Given the description of an element on the screen output the (x, y) to click on. 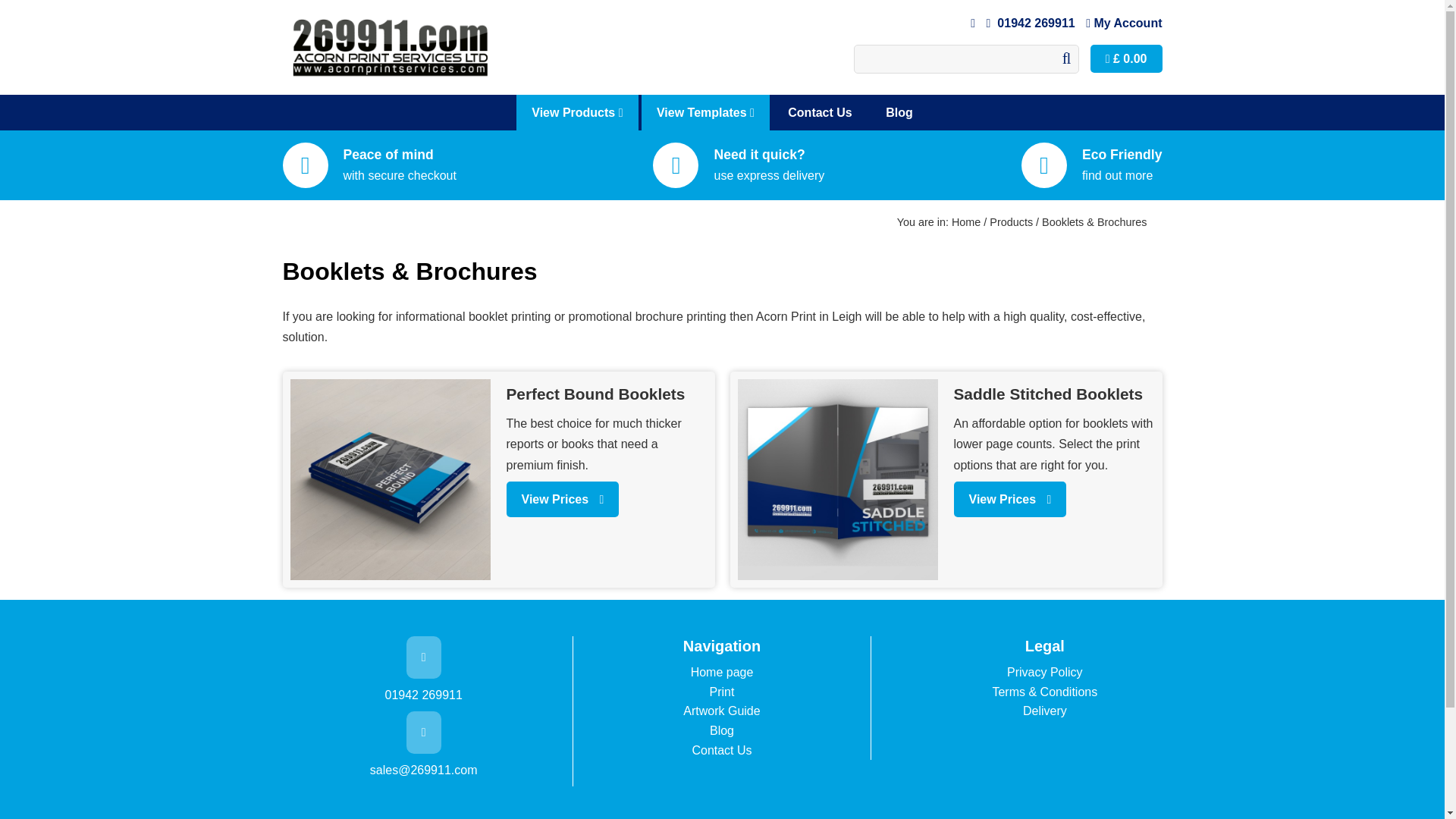
Email Us Element type: hover (974, 22)
Privacy Policy Element type: text (1044, 671)
Blog Element type: text (899, 112)
Delivery Element type: text (1044, 710)
View Products Element type: text (576, 112)
Perfect Bound Booklets Element type: hover (389, 479)
View Prices Element type: text (562, 499)
Products Element type: text (1010, 222)
Terms & Conditions Element type: text (1044, 691)
Search Element type: hover (965, 58)
Artwork Guide Element type: text (721, 710)
Perfect Bound Booklets Element type: text (606, 393)
View Prices Element type: text (1009, 499)
sales@269911.com Element type: text (423, 752)
View Templates Element type: text (705, 112)
Home page Element type: text (721, 671)
Home Element type: text (965, 222)
Blog Element type: text (721, 730)
  01942 269911 Element type: text (1032, 22)
01942 269911 Element type: text (423, 694)
Peace of mind
with secure checkout Element type: text (368, 165)
Need it quick?
use express delivery Element type: text (738, 165)
Print Element type: text (721, 691)
My Account Element type: text (1123, 22)
Saddle Stitched Booklets Element type: text (1053, 393)
Eco Friendly
find out more Element type: text (1091, 165)
Contact Us Element type: text (819, 112)
Contact Us Element type: text (721, 749)
Saddle Stitched Booklets Element type: hover (837, 479)
